Given the description of an element on the screen output the (x, y) to click on. 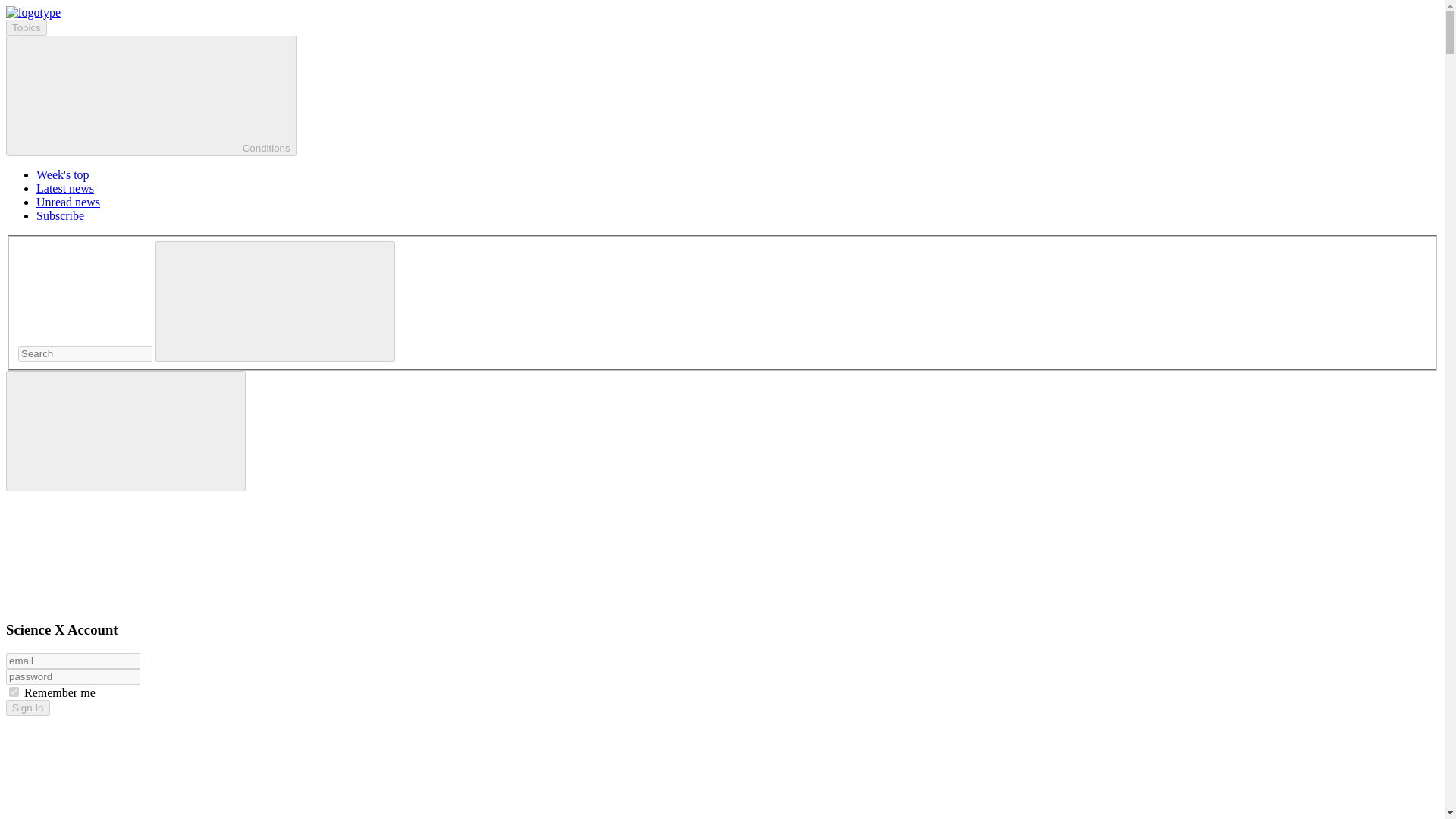
Unread news (68, 201)
on (13, 691)
Conditions (151, 96)
Latest news (65, 187)
Week's top (62, 174)
Subscribe (60, 215)
Topics (25, 27)
Sign In (27, 707)
